Given the description of an element on the screen output the (x, y) to click on. 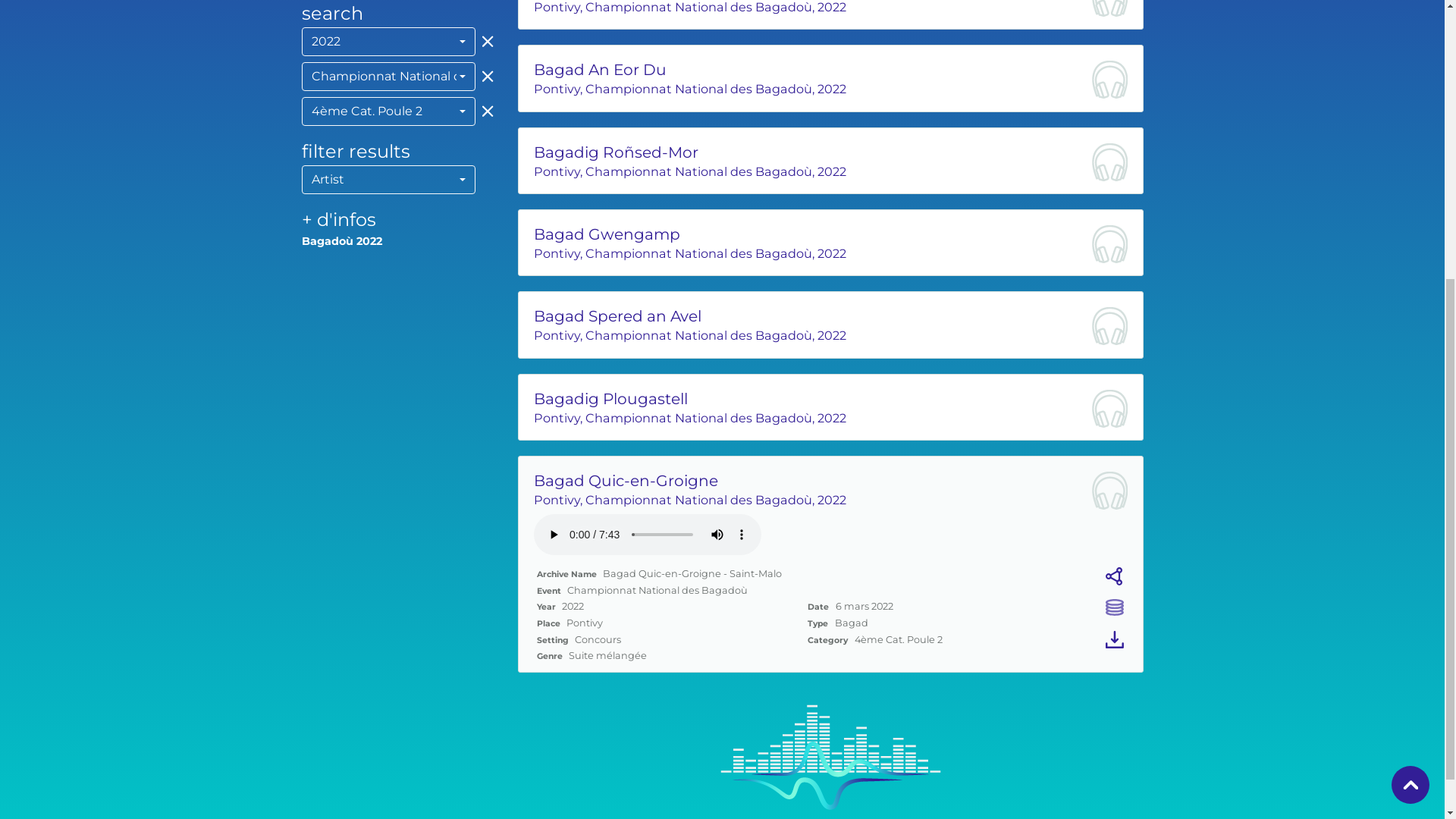
Supprimer ce filtre Element type: hover (484, 513)
es Element type: text (1084, 20)
Supprimer ce filtre Element type: hover (484, 548)
2022 Element type: text (388, 479)
Artist Element type: text (388, 617)
ca Element type: text (1107, 20)
br Element type: text (981, 20)
Supprimer ce filtre Element type: hover (484, 479)
it Element type: text (1042, 20)
fr Element type: text (1000, 20)
de Element type: text (1062, 20)
